Given the description of an element on the screen output the (x, y) to click on. 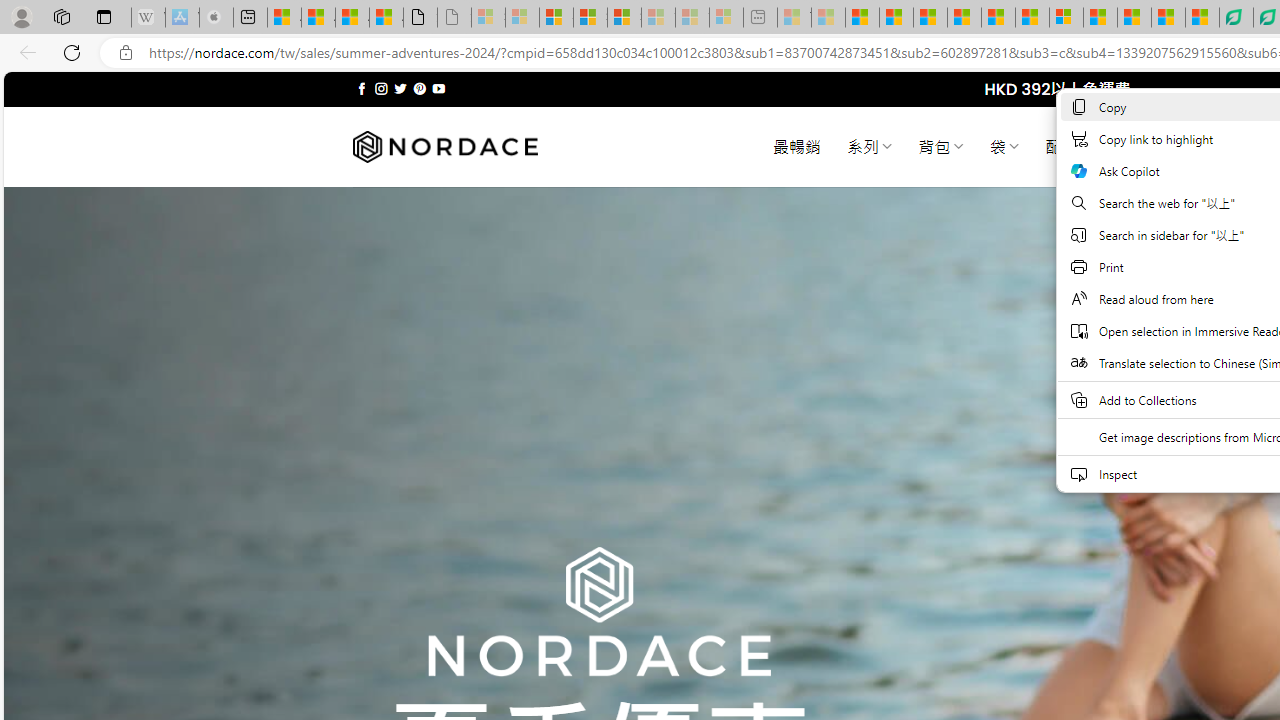
Foo BAR | Trusted Community Engagement and Contributions (1032, 17)
Buy iPad - Apple - Sleeping (215, 17)
Top Stories - MSN - Sleeping (794, 17)
Follow on Instagram (381, 88)
Microsoft Services Agreement - Sleeping (521, 17)
Follow on Pinterest (419, 88)
Food and Drink - MSN (895, 17)
